Given the description of an element on the screen output the (x, y) to click on. 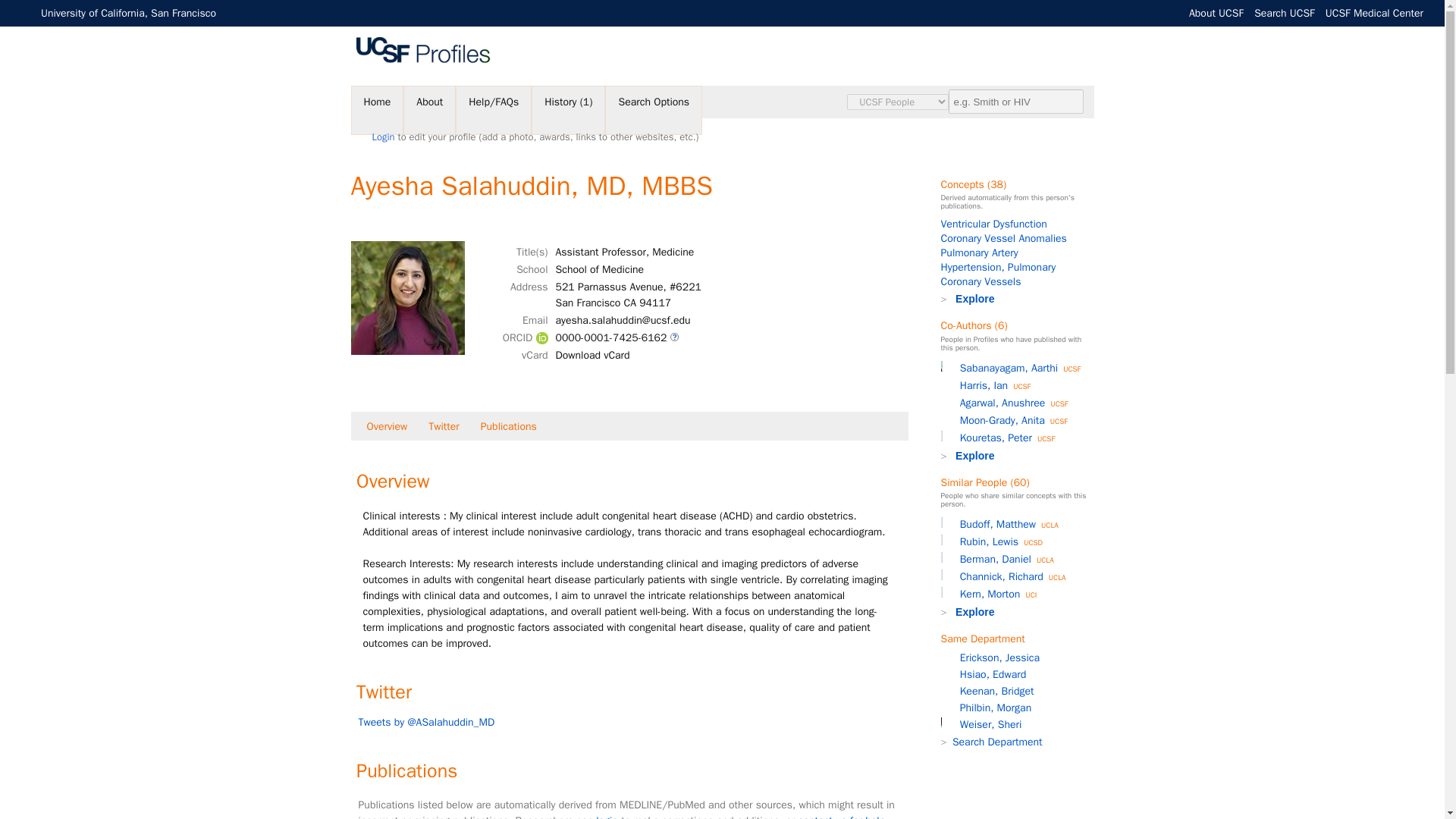
University of California, San Francisco (127, 12)
University of California, San Francisco (127, 12)
Download vCard (591, 354)
Search Options (653, 110)
contact us for help (841, 816)
Twitter (444, 426)
Login (382, 136)
Overview (386, 426)
About (429, 110)
About UCSF (1216, 12)
UCSF Medical Center (1373, 12)
Search UCSF (1283, 12)
UCSF Medical Center (1373, 12)
0000-0001-7425-6162 (610, 337)
Search UCSF (1283, 12)
